Given the description of an element on the screen output the (x, y) to click on. 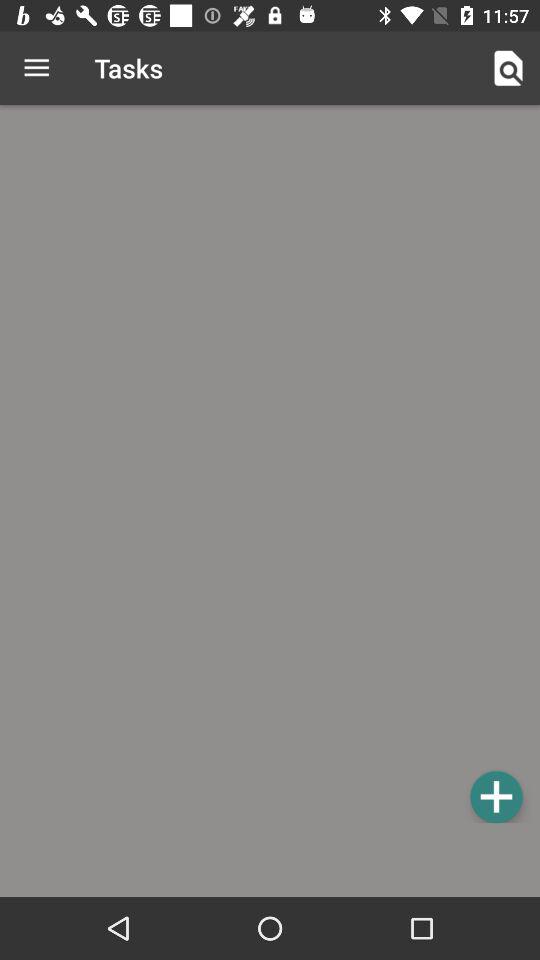
select the icon next to the tasks icon (36, 68)
